Given the description of an element on the screen output the (x, y) to click on. 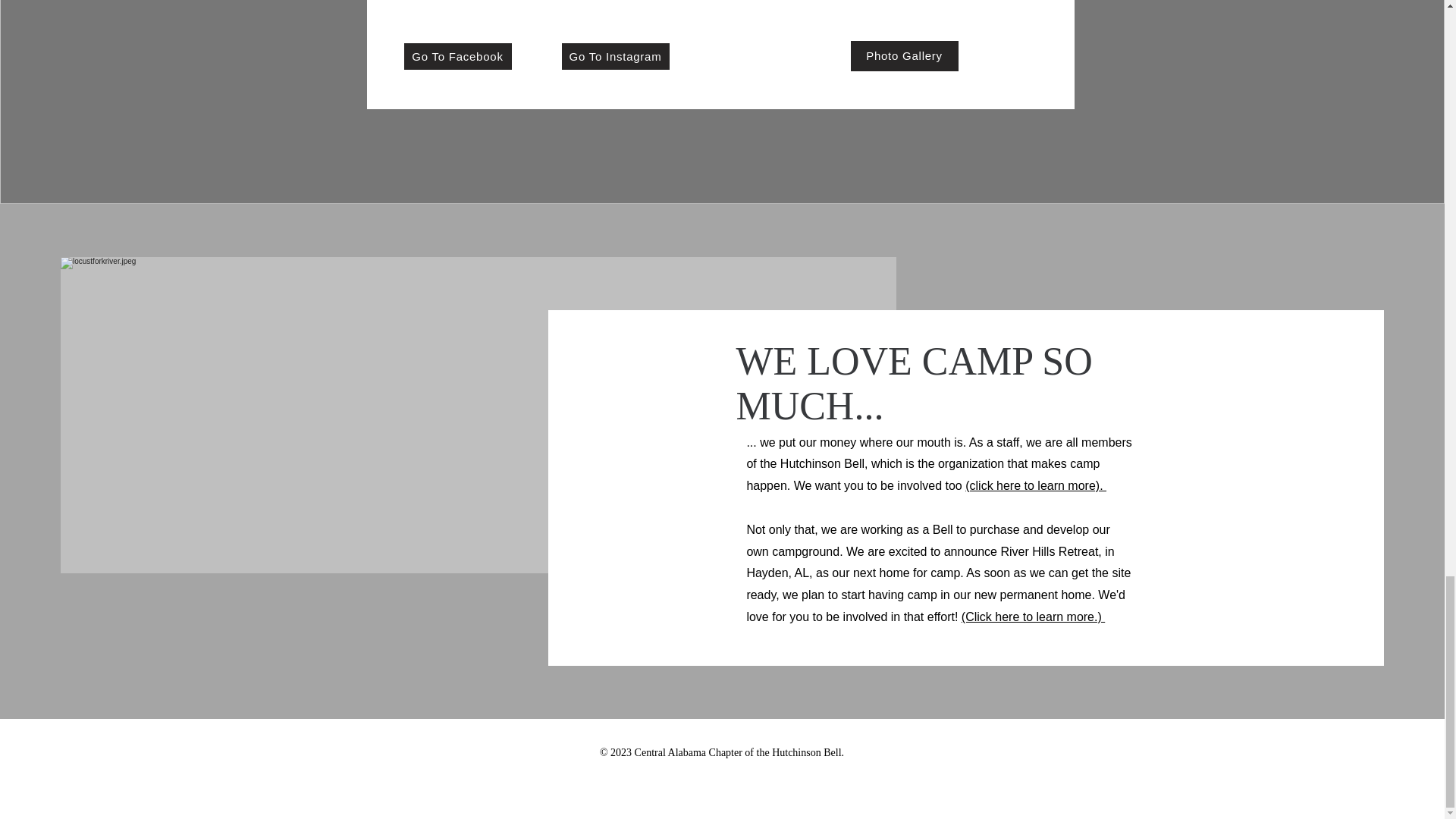
Go To Facebook (457, 56)
Photo Gallery (904, 55)
Go To Instagram (614, 56)
